Given the description of an element on the screen output the (x, y) to click on. 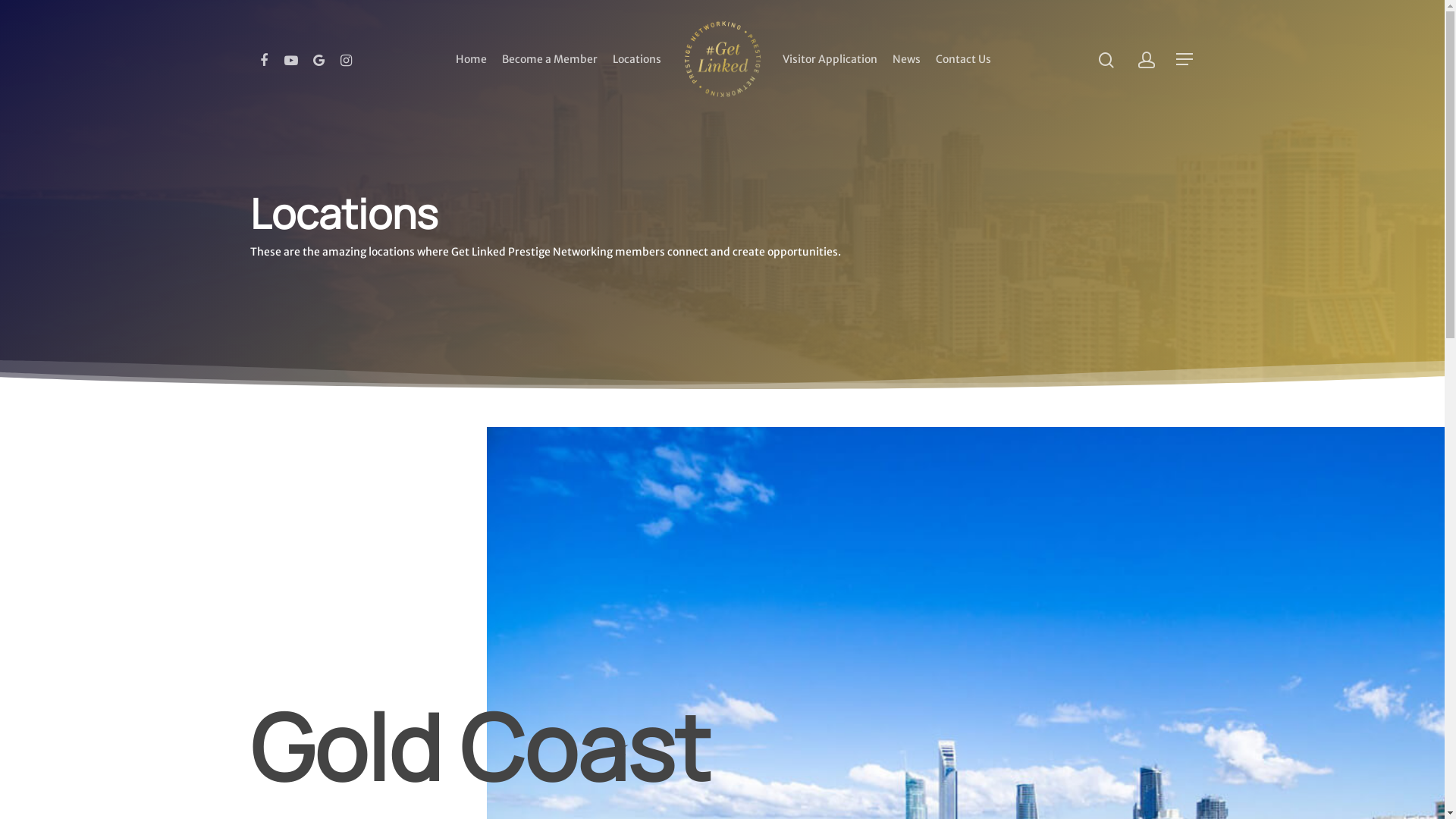
Become a Member Element type: text (549, 58)
Locations Element type: text (636, 58)
News Element type: text (906, 58)
Visitor Application Element type: text (829, 58)
Contact Us Element type: text (963, 58)
Home Element type: text (470, 58)
Privacy Policy Element type: text (450, 795)
